Given the description of an element on the screen output the (x, y) to click on. 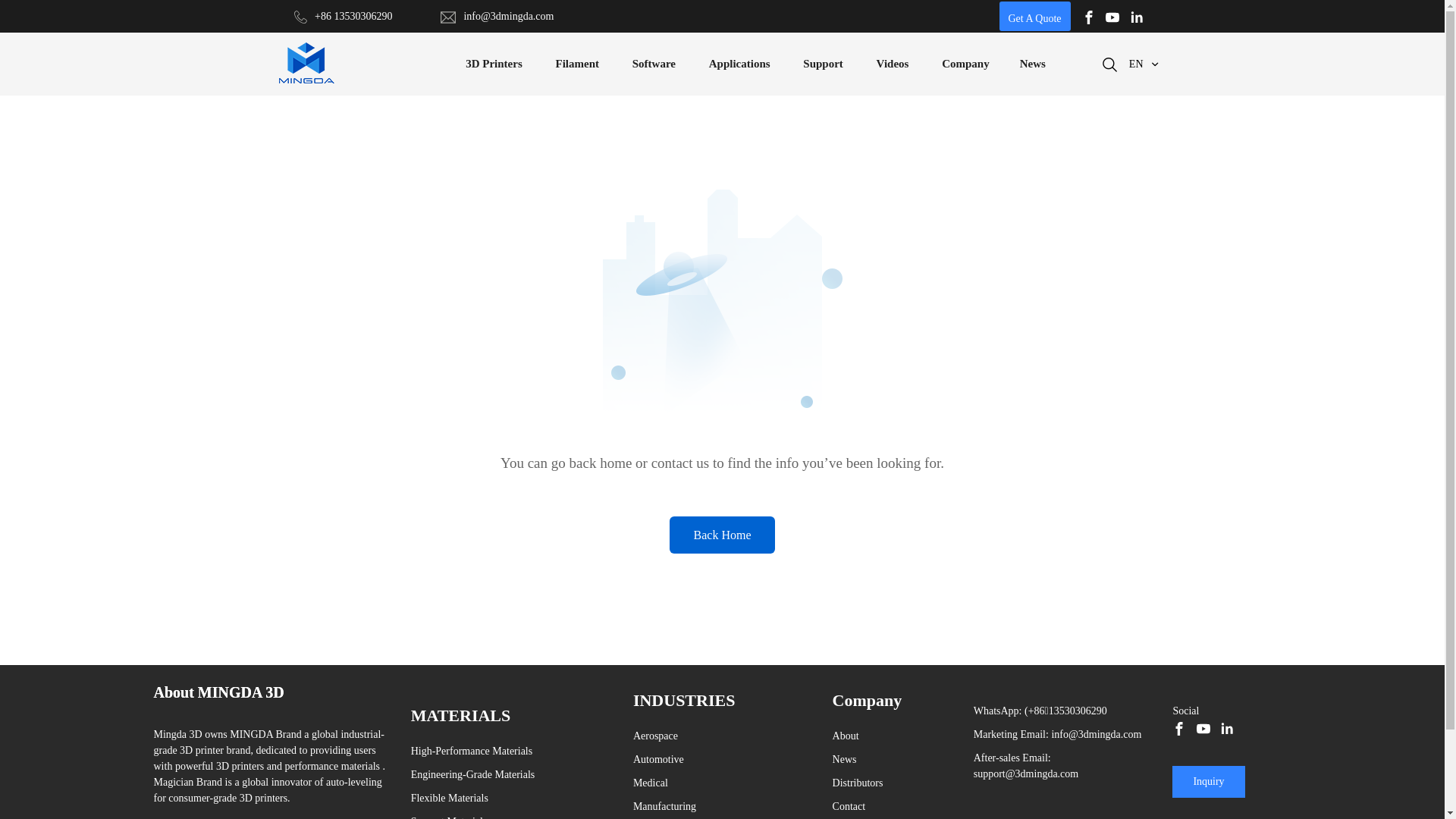
News Element type: text (844, 759)
Back Home Element type: text (722, 534)
support@3dmingda.com Element type: text (1026, 773)
Applications Element type: text (739, 64)
info@3dmingda.com Element type: text (1096, 734)
Inquiry Element type: text (1208, 781)
Company Element type: text (965, 64)
3D Printers Element type: text (493, 64)
Contact Element type: text (849, 806)
Videos Element type: text (892, 64)
Aerospace Element type: text (655, 735)
Distributors Element type: text (857, 782)
About Element type: text (845, 735)
Manufacturing Element type: text (664, 806)
High-Performance Materials  Element type: text (473, 750)
News Element type: text (1032, 64)
Support Element type: text (823, 64)
Filament Element type: text (577, 64)
Software Element type: text (653, 64)
Get A Quote Element type: text (1034, 16)
